Given the description of an element on the screen output the (x, y) to click on. 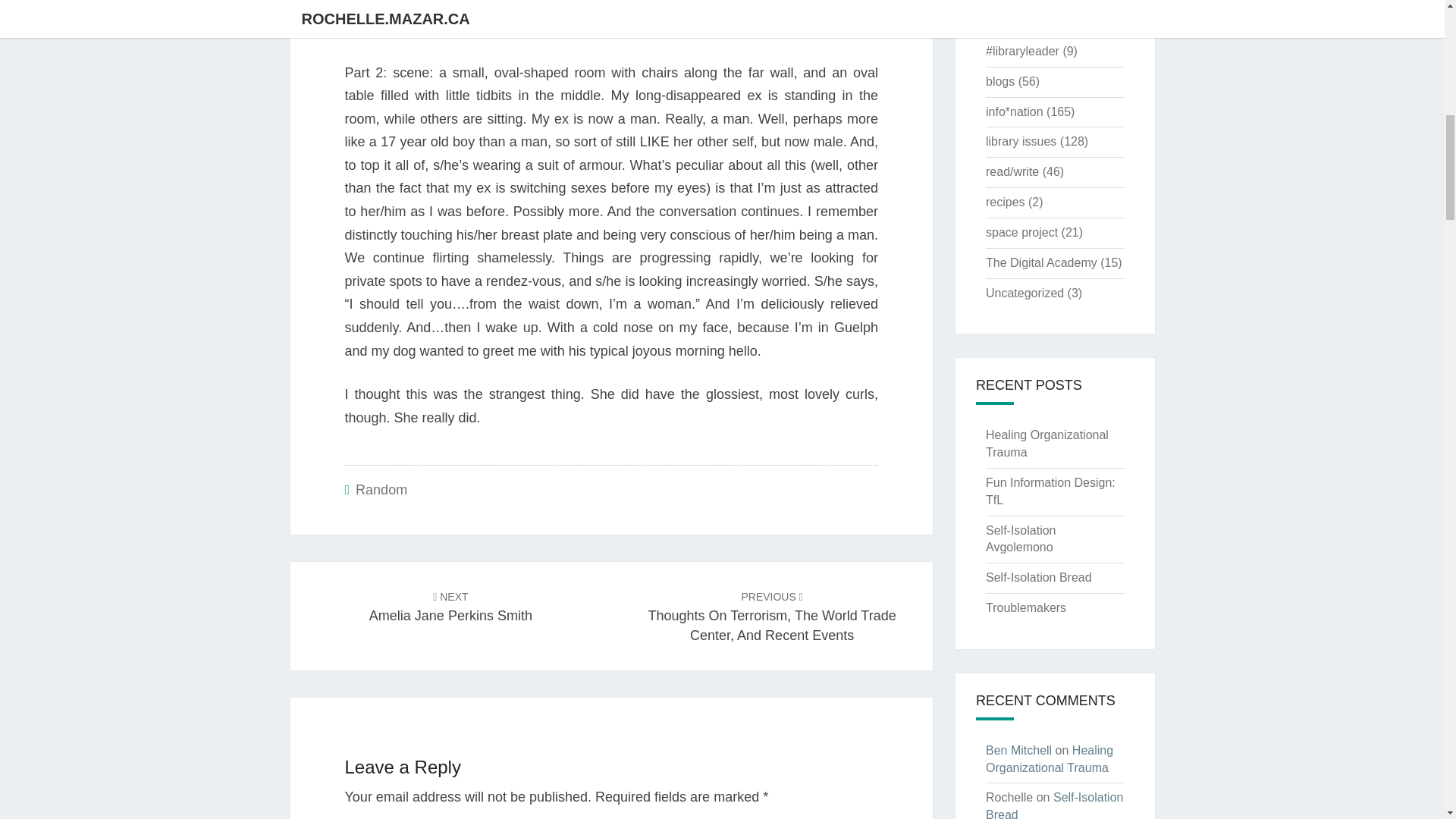
Healing Organizational Trauma (1049, 758)
Fun Information Design: TfL (1050, 490)
recipes (1005, 201)
Healing Organizational Trauma (1046, 443)
Ben Mitchell (1018, 749)
Uncategorized (1024, 292)
Self-Isolation Bread (1038, 576)
The Digital Academy (1041, 262)
blogs (999, 81)
Self-Isolation Avgolemono (1021, 539)
space project (450, 605)
library issues (1021, 232)
Self-Isolation Bread (1021, 141)
